Given the description of an element on the screen output the (x, y) to click on. 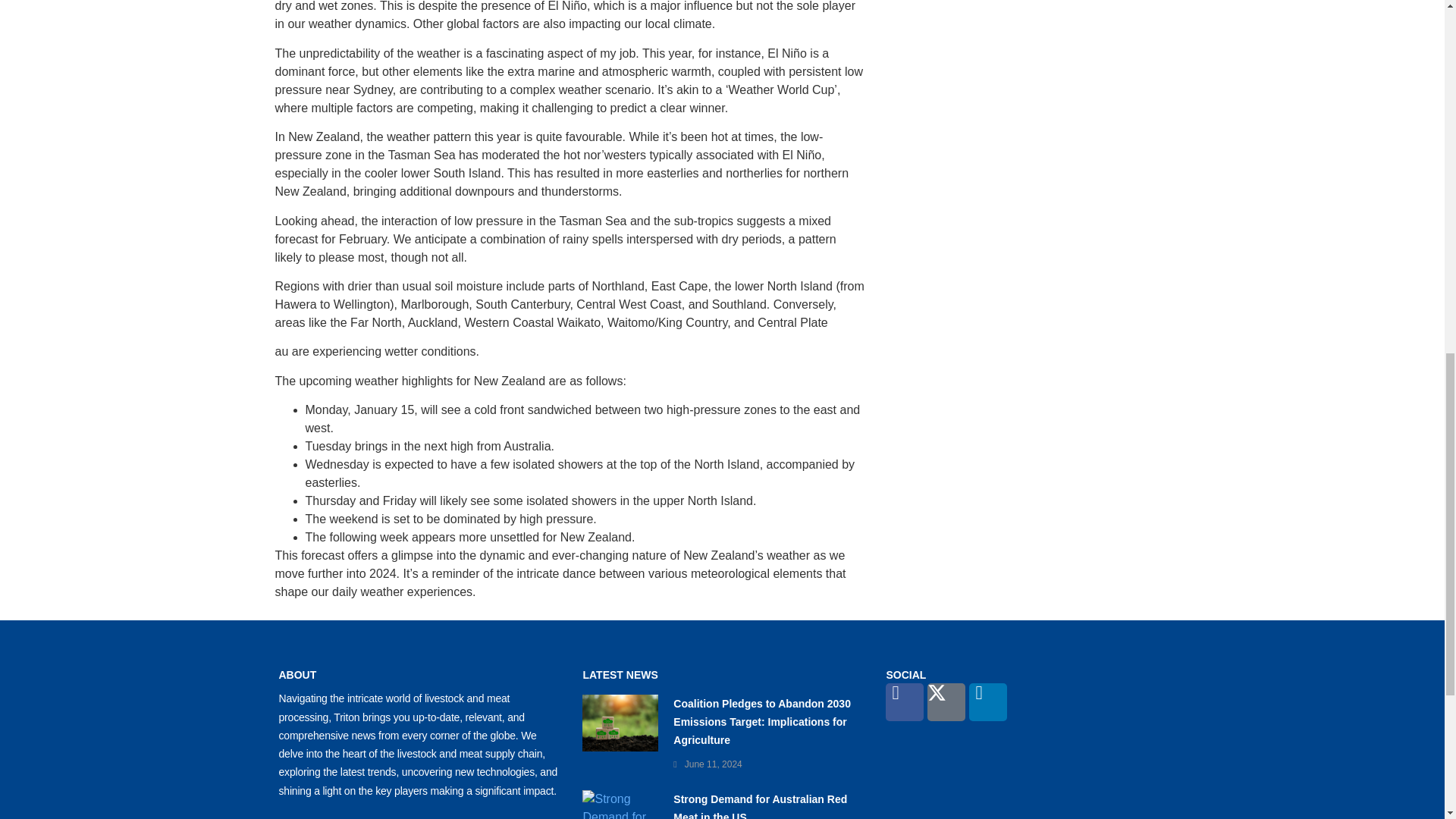
Strong Demand for Australian Red Meat in the US (759, 806)
June 11, 2024 (713, 764)
